Given the description of an element on the screen output the (x, y) to click on. 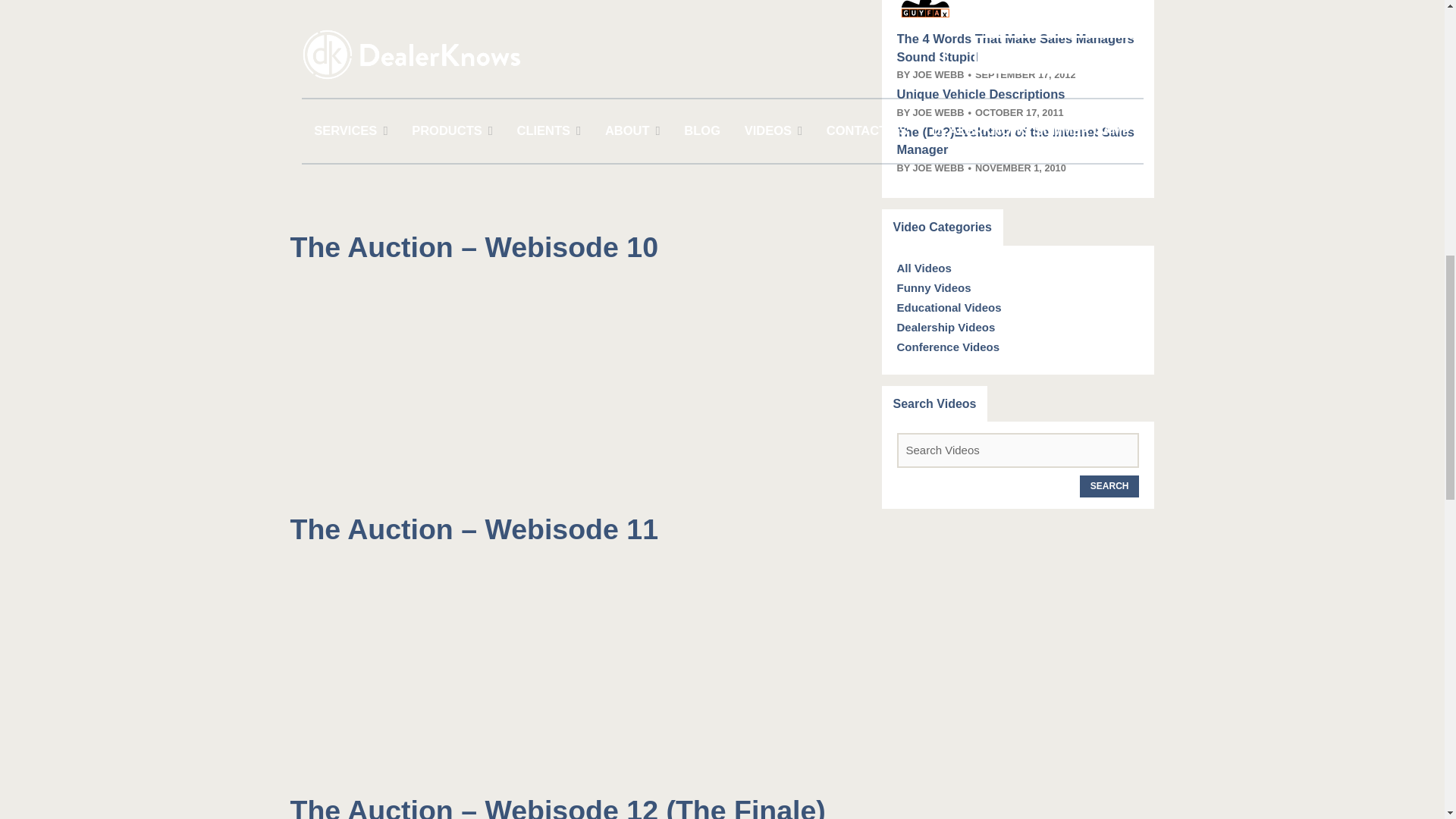
The Auction, Episode 10. Technology Trumps Father Time (478, 386)
The Auction, Episode 11. Ten Things She Hates About You (478, 667)
Search (1110, 486)
The Auction, Episode 9. Picking the Ripest Fruits (478, 105)
